Given the description of an element on the screen output the (x, y) to click on. 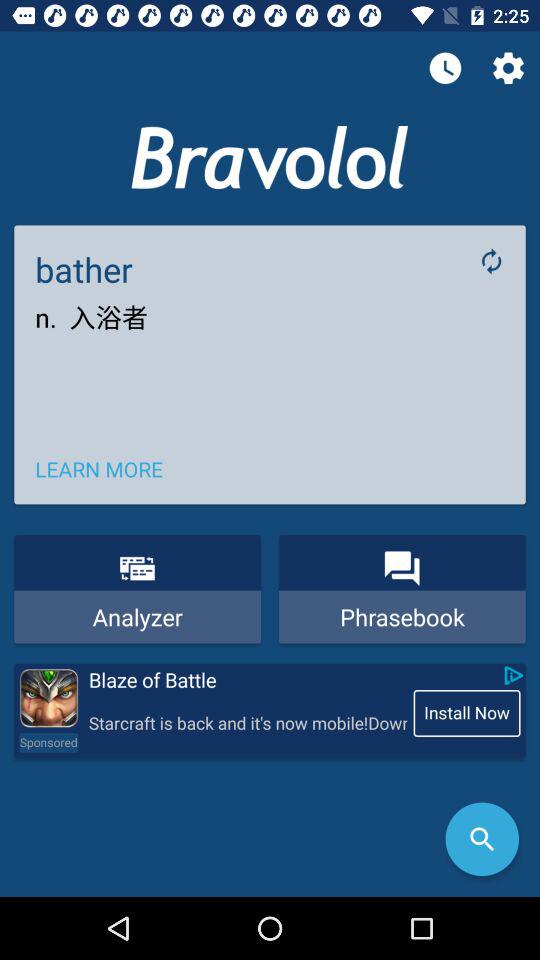
turn off sponsored icon (48, 742)
